Given the description of an element on the screen output the (x, y) to click on. 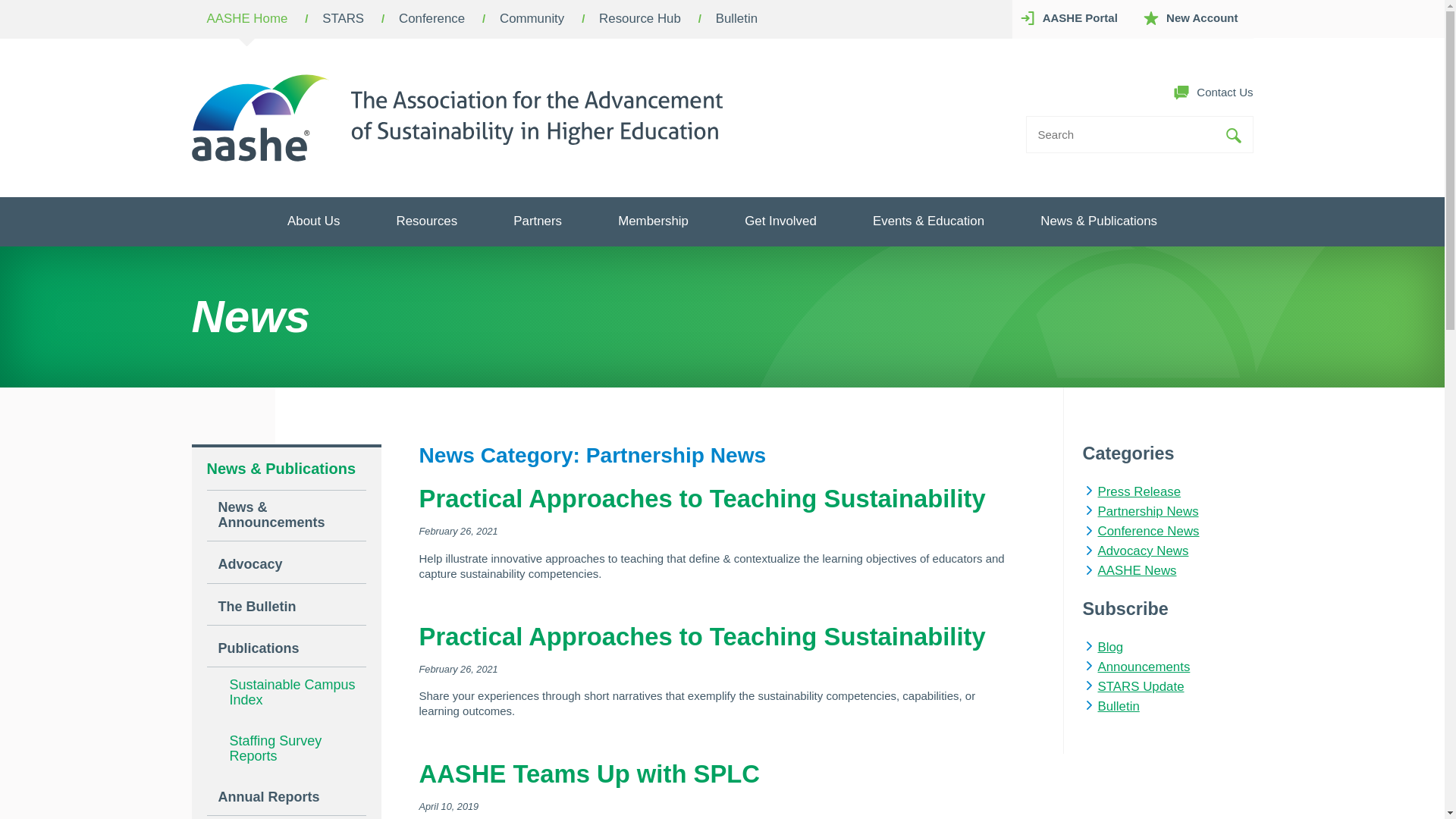
Resources (426, 221)
Resource Hub (639, 19)
AASHE Portal (1071, 18)
Bulletin (736, 19)
New Account (1193, 18)
Search (1232, 134)
Community (531, 19)
Practical Approaches to Teaching Sustainability (702, 498)
Search (1232, 134)
Practical Approaches to Teaching Sustainability (702, 636)
AASHE Teams Up with SPLC (589, 773)
AASHE Home (246, 19)
Conference (431, 19)
Partners (537, 221)
About Us (313, 221)
